Given the description of an element on the screen output the (x, y) to click on. 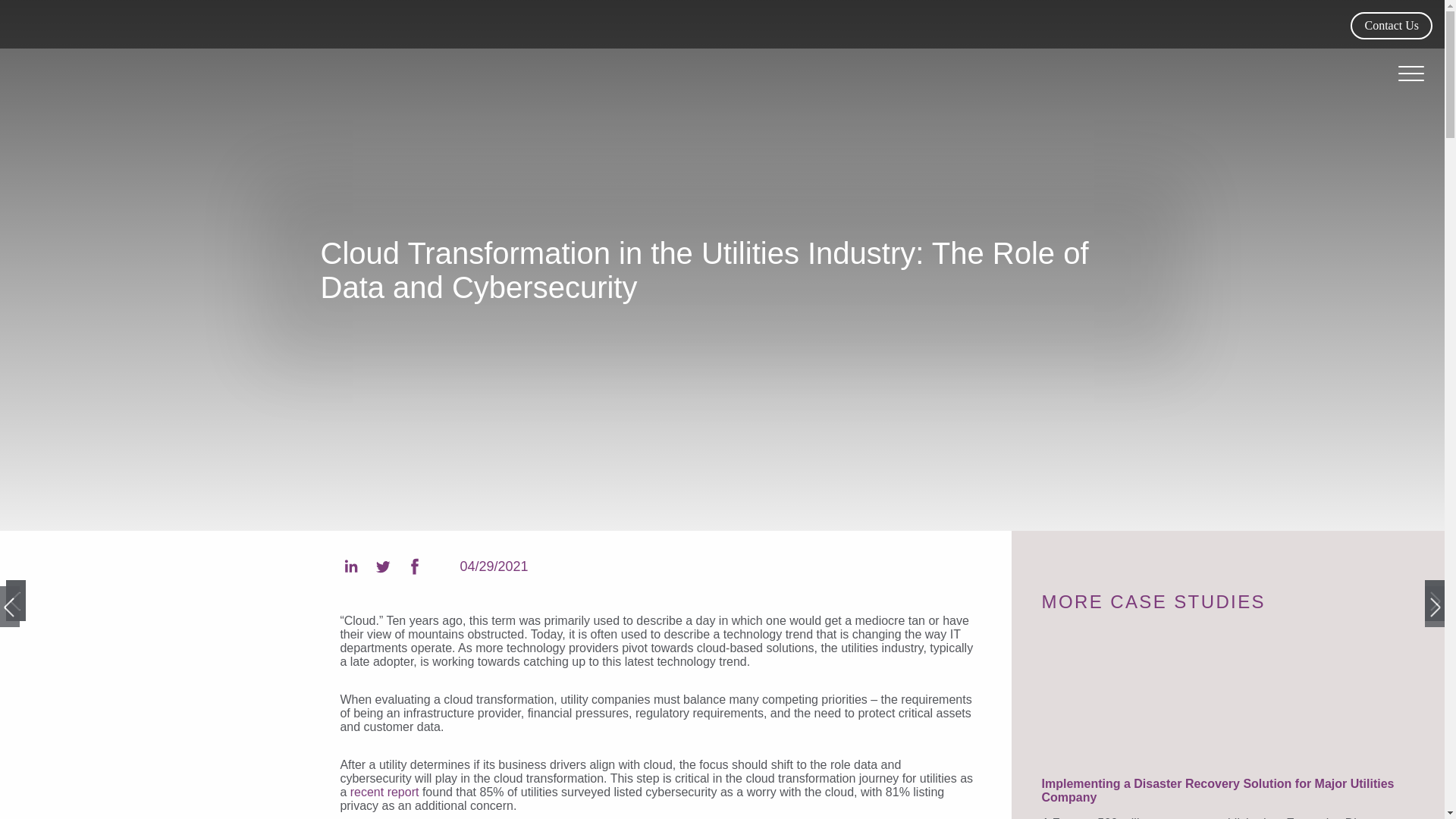
Contact Us (1391, 25)
toggle menu (1410, 73)
recent report (384, 791)
